Given the description of an element on the screen output the (x, y) to click on. 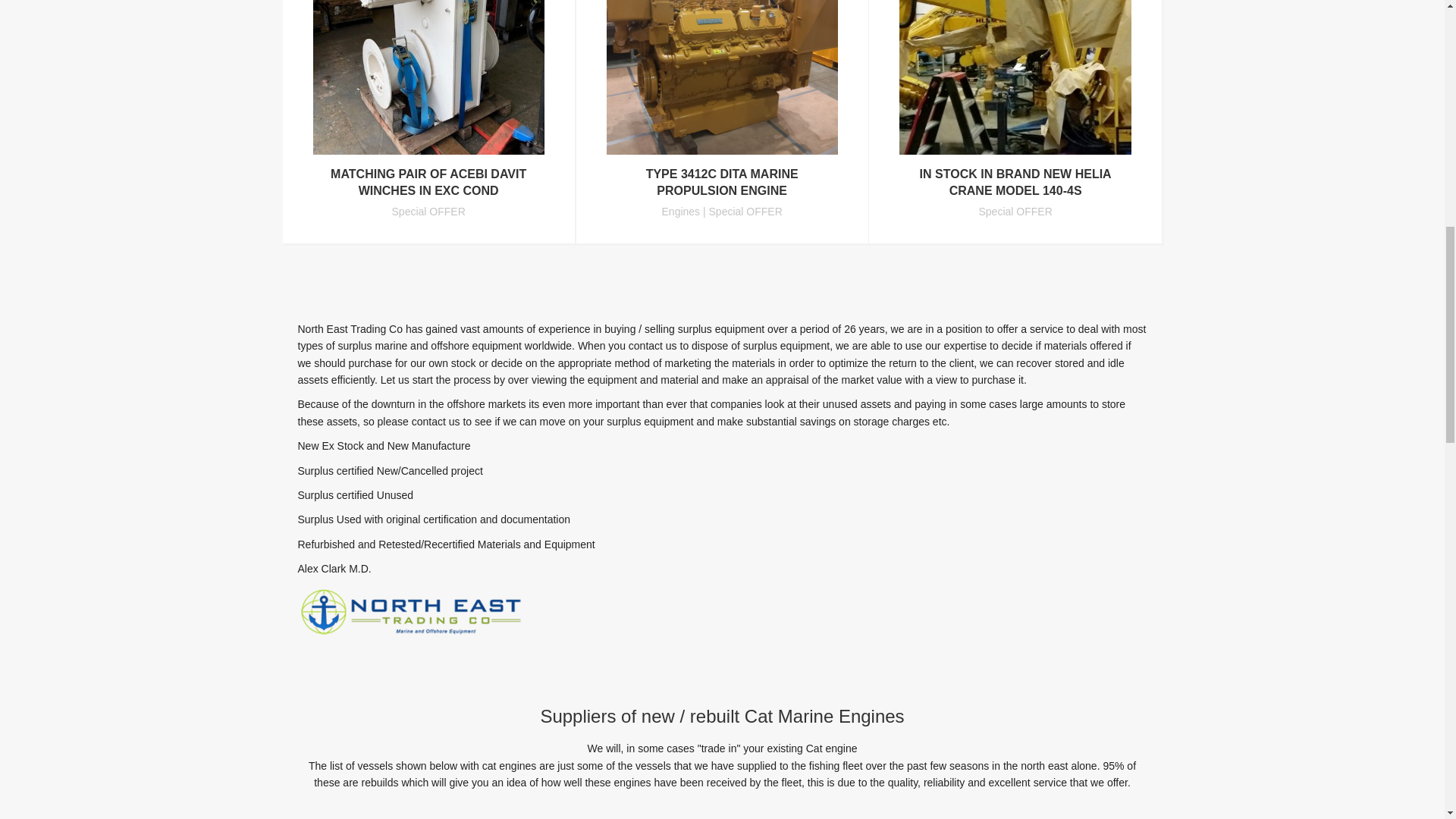
Page 1 (722, 805)
matching pair of ACEBI davit winches in exc cond (427, 182)
Special OFFER (746, 211)
Special OFFER (428, 211)
image007 (428, 76)
TYPE 3412C DITA MARINE PROPULSION ENGINE (721, 182)
Special OFFER (1014, 211)
Type 3412C DITA Marine propulsion engine (721, 182)
IN STOCK IN BRAND NEW HELIA CRANE MODEL 140-4S (1016, 182)
Engines (681, 211)
